Given the description of an element on the screen output the (x, y) to click on. 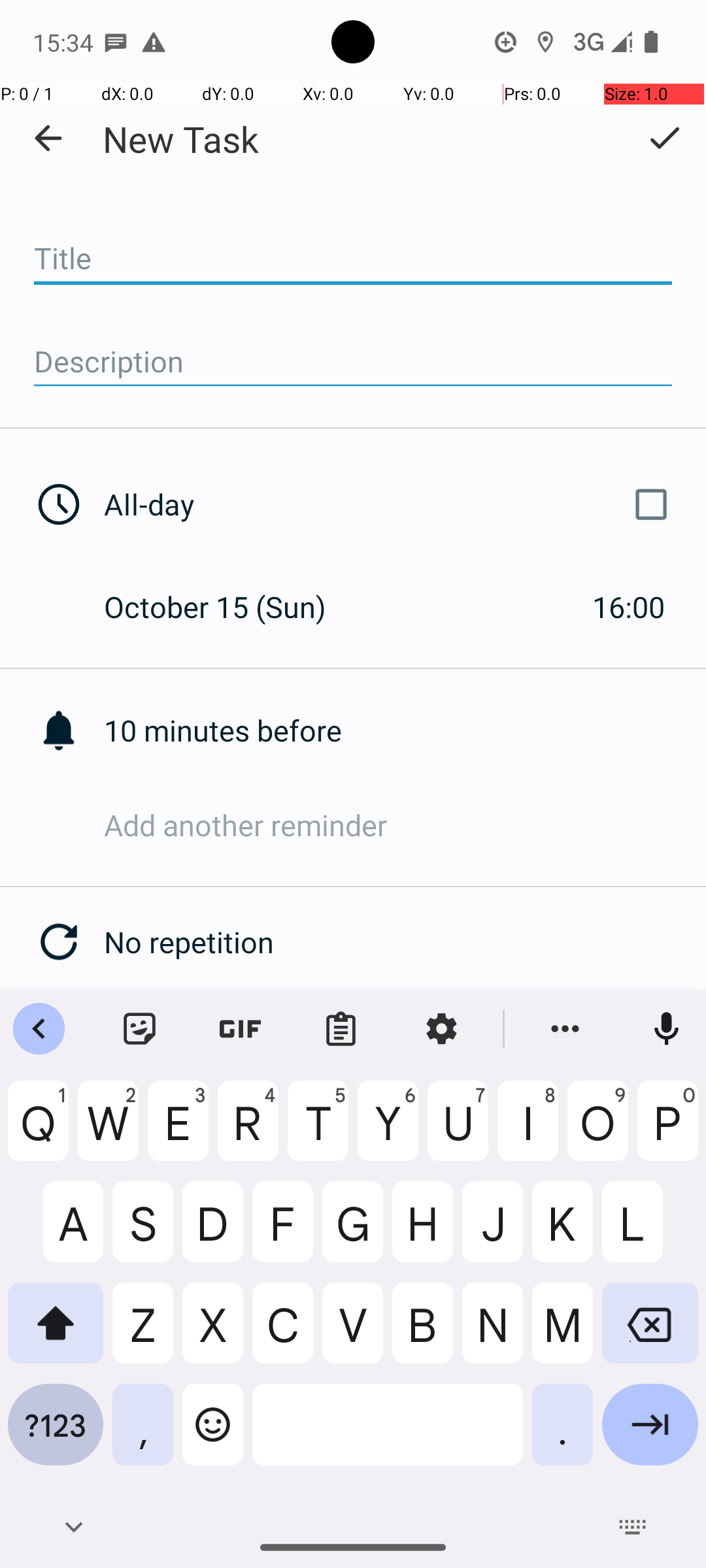
New Task Element type: android.widget.TextView (180, 138)
10 minutes before Element type: android.widget.TextView (404, 729)
Add another reminder Element type: android.widget.TextView (404, 824)
